Given the description of an element on the screen output the (x, y) to click on. 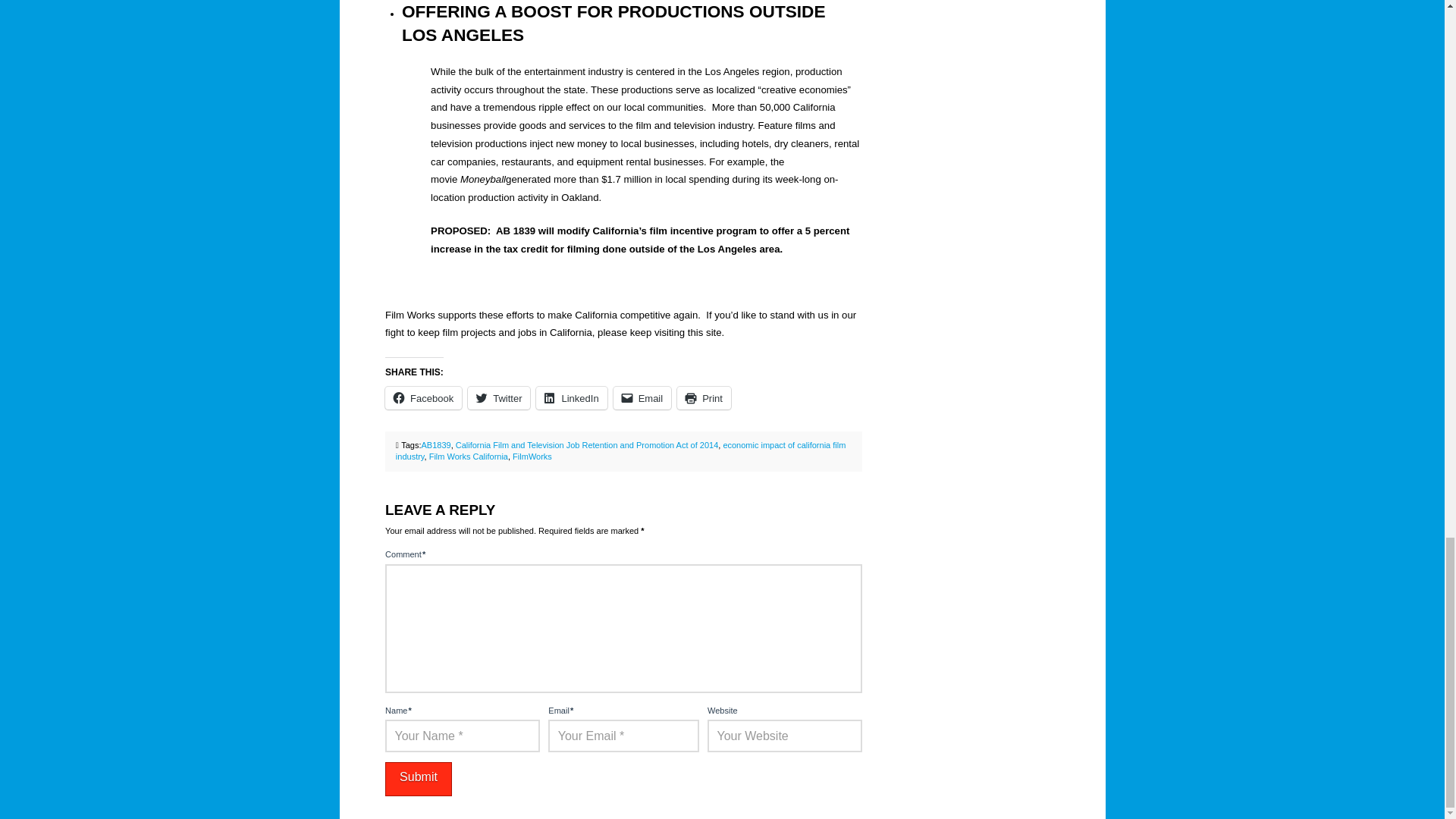
Click to share on Facebook (423, 397)
Submit (418, 779)
Click to share on LinkedIn (571, 397)
Click to print (703, 397)
Click to email a link to a friend (641, 397)
Twitter (498, 397)
Facebook (423, 397)
Click to share on Twitter (498, 397)
